Given the description of an element on the screen output the (x, y) to click on. 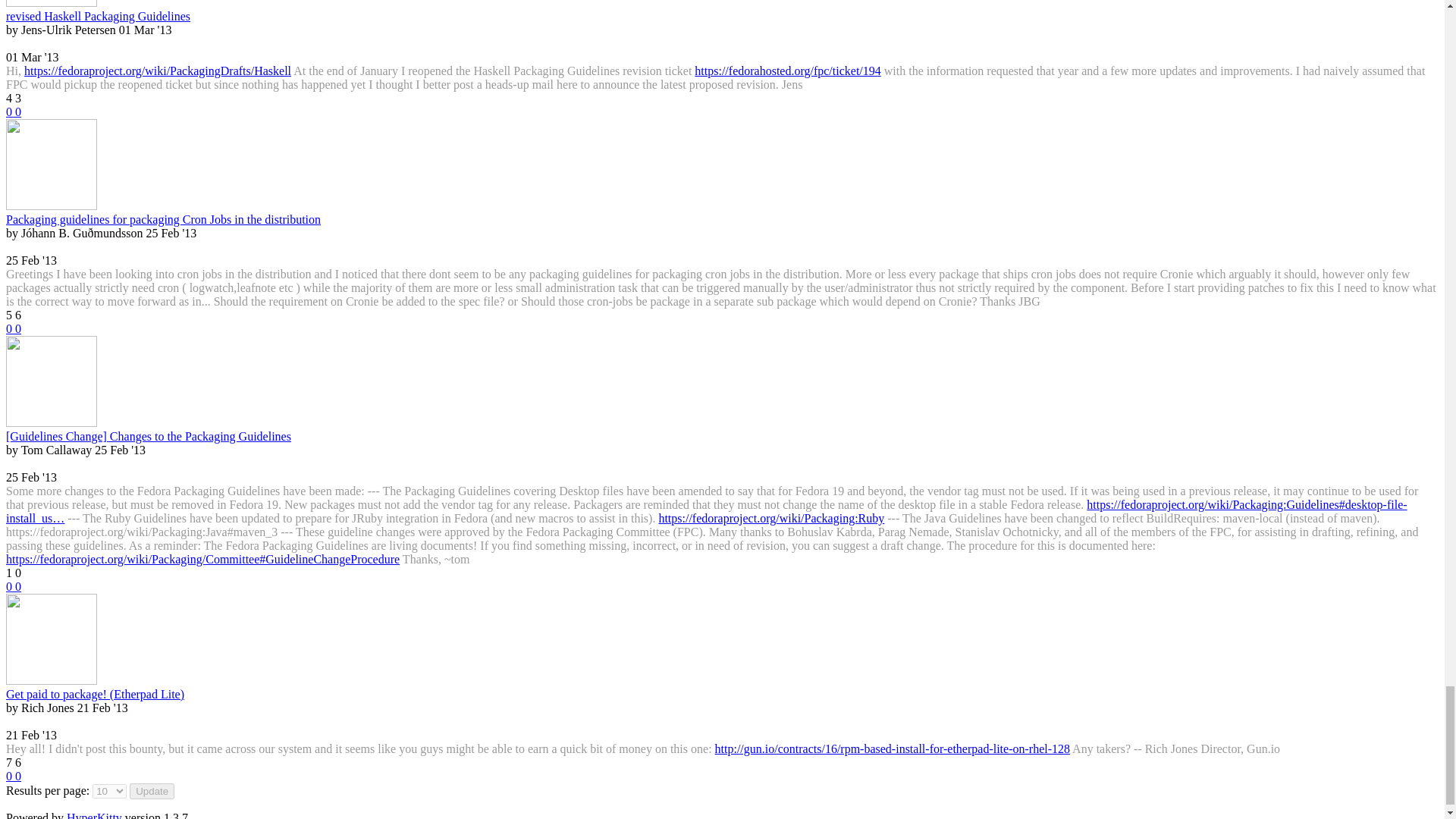
Monday, 25 February 2013 00:39:38 (30, 477)
You must be logged-in to vote. (17, 111)
Monday, 25 February 2013 21:47:13 (170, 232)
You must be logged-in to vote. (9, 111)
Friday, 1 March 2013 13:24:28 (145, 29)
Monday, 25 February 2013 00:39:38 (119, 449)
You must be logged-in to vote. (17, 328)
You must be logged-in to vote. (9, 328)
Friday, 1 March 2013 13:24:28 (32, 56)
Update (151, 790)
Monday, 25 February 2013 21:47:13 (30, 259)
